Given the description of an element on the screen output the (x, y) to click on. 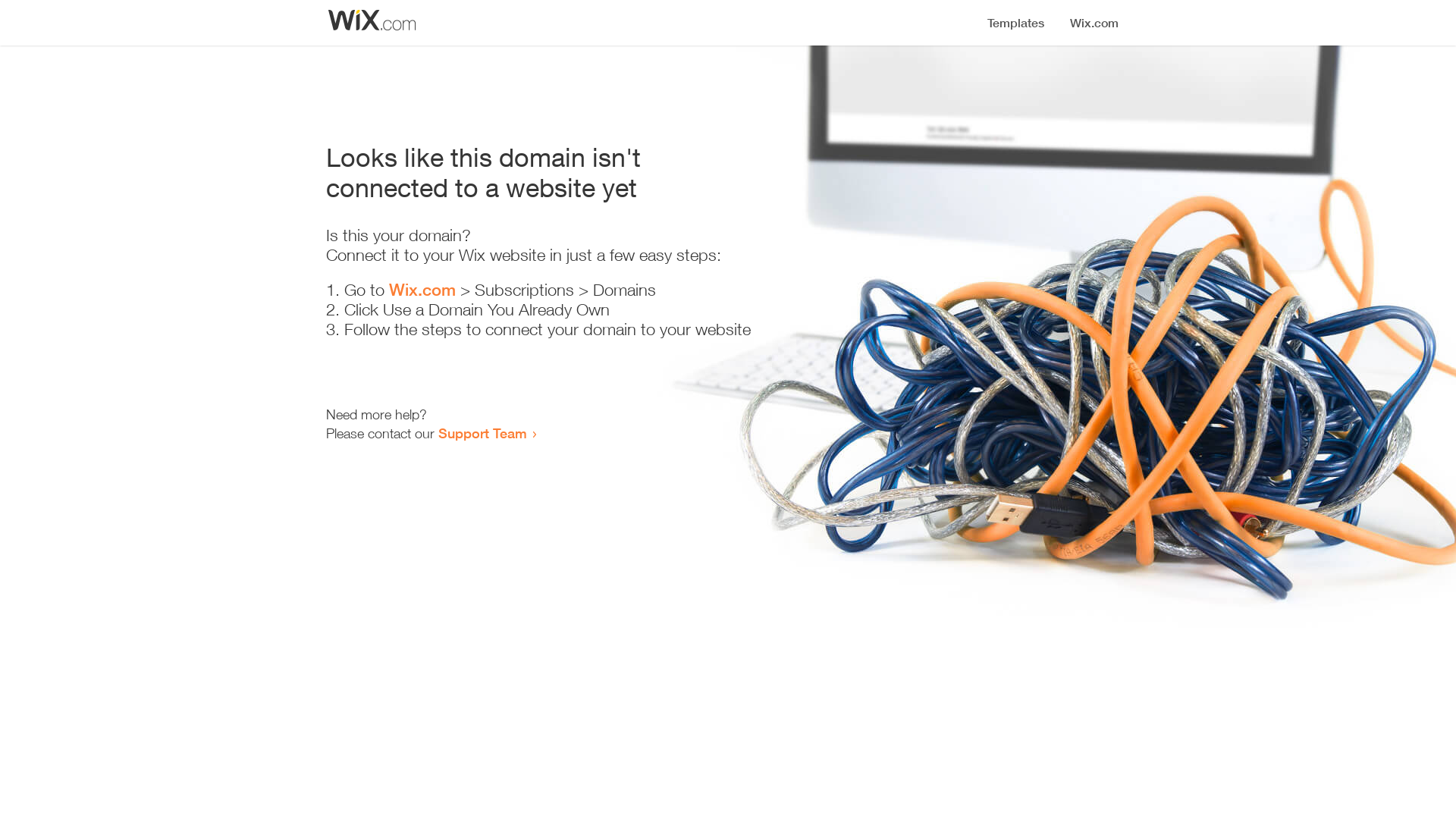
Wix.com Element type: text (422, 289)
Support Team Element type: text (482, 432)
